Given the description of an element on the screen output the (x, y) to click on. 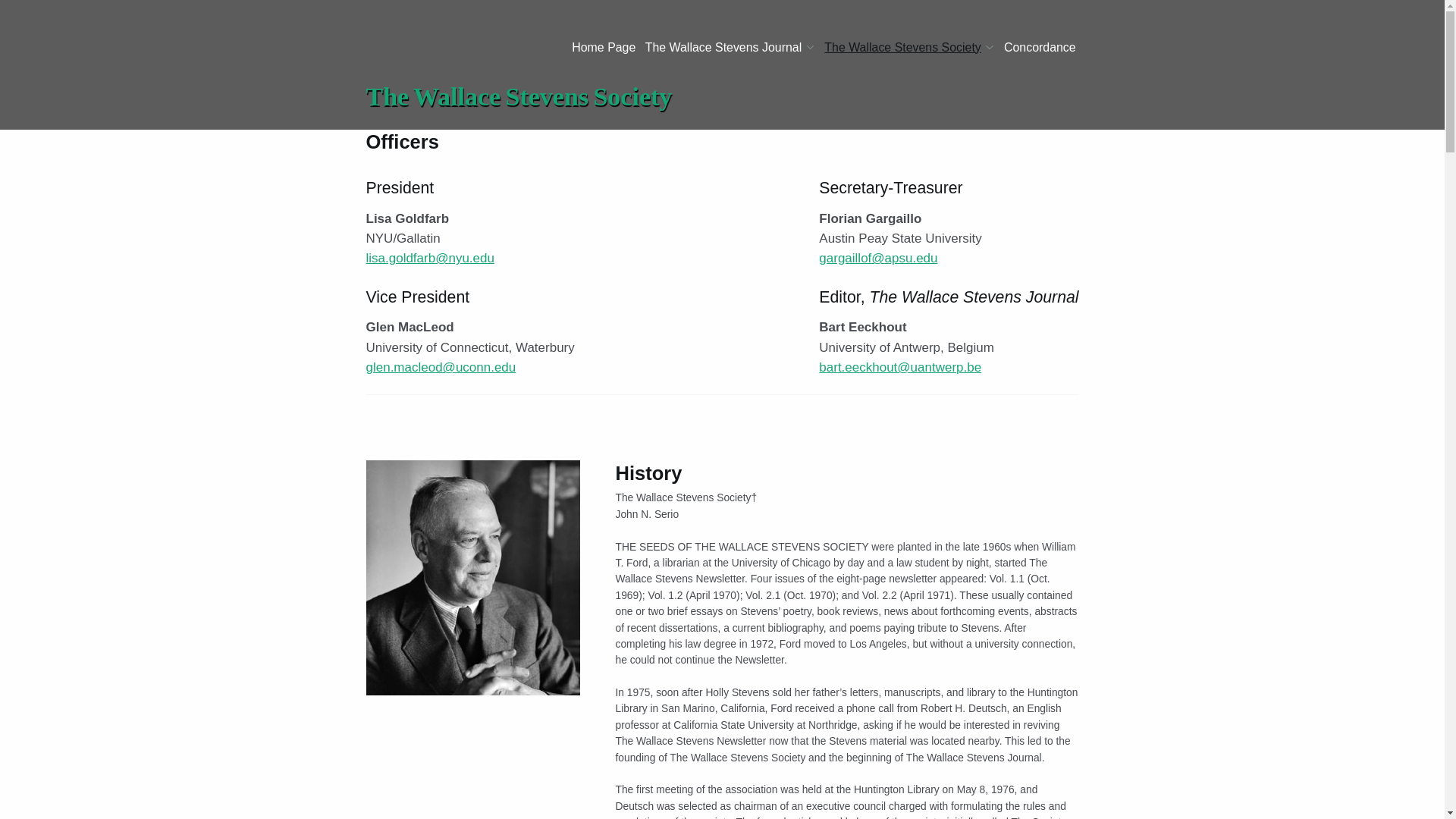
Home Page (603, 47)
The Wallace Stevens Journal (729, 47)
The Wallace Stevens Society (518, 96)
The Wallace Stevens Society (908, 47)
Concordance (1039, 47)
